Given the description of an element on the screen output the (x, y) to click on. 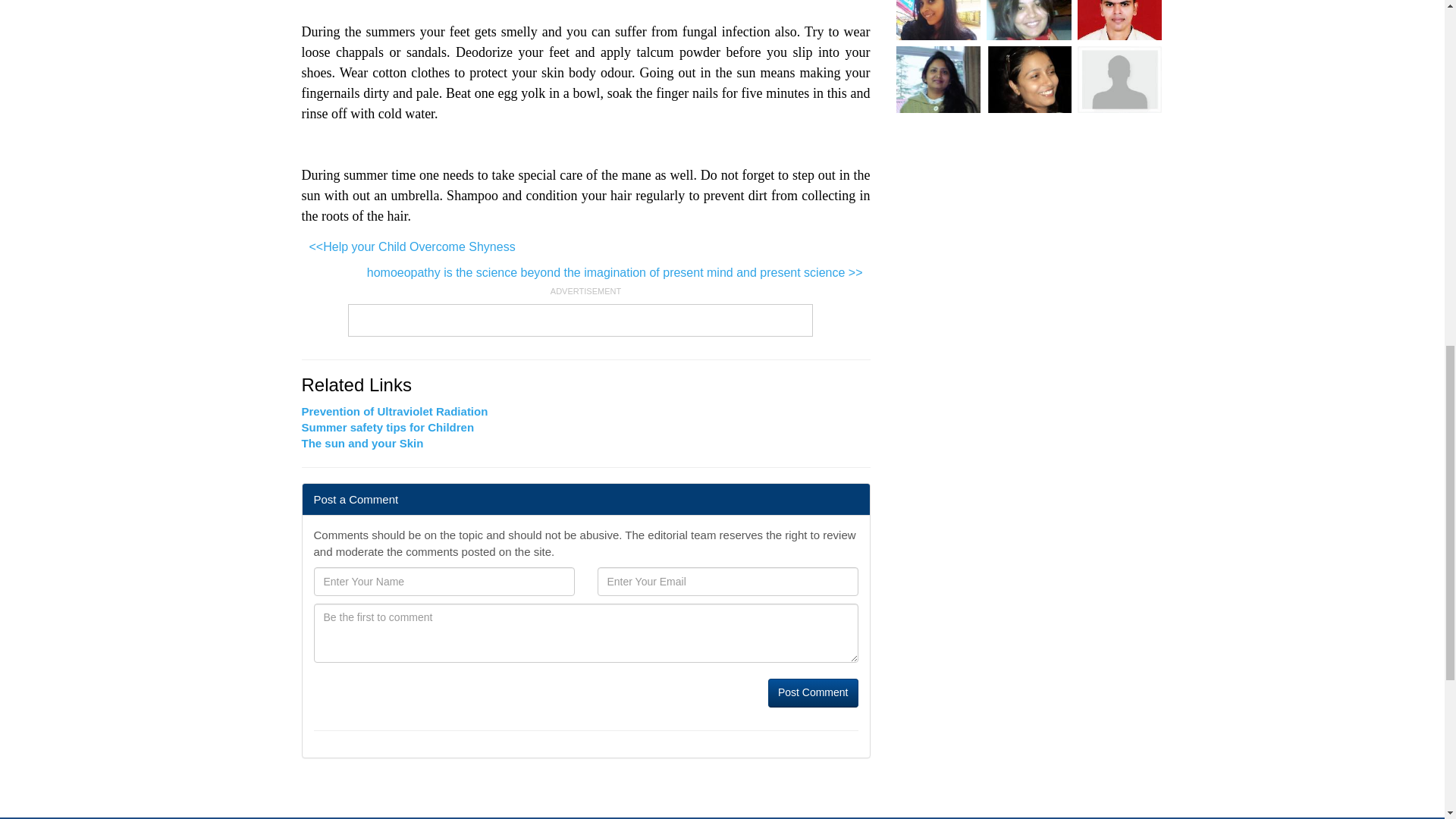
Antony76 (1119, 20)
Dr.Trupti (1029, 20)
Summer safety tips for Children (387, 427)
ThelmaSimon (1029, 79)
Krishna Bora (938, 20)
Post Comment (813, 692)
Lakshmi Gopal (938, 79)
Help your Child Overcome Shyness   (411, 247)
The sun and your Skin (362, 442)
